Given the description of an element on the screen output the (x, y) to click on. 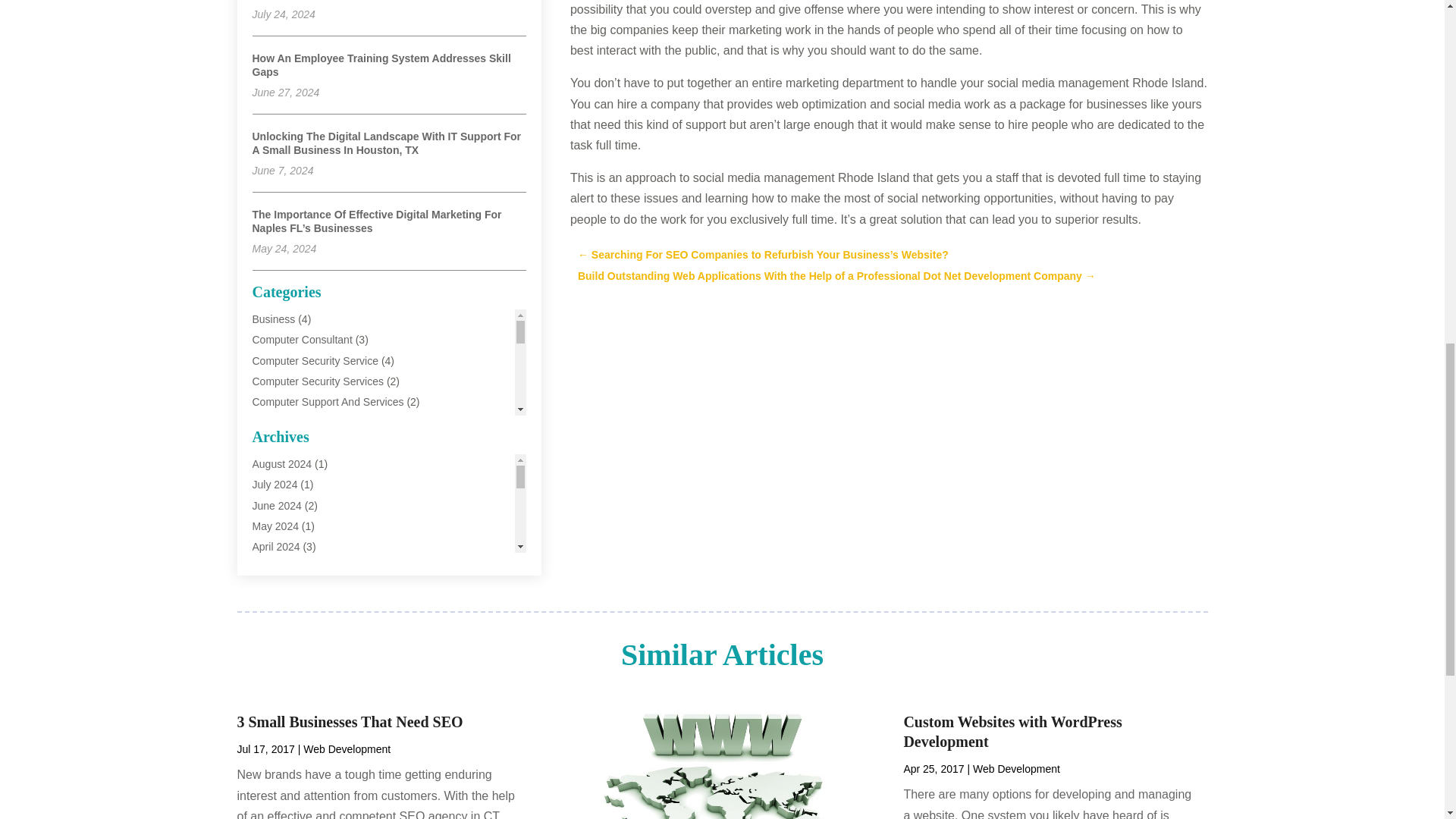
Computers (276, 422)
Business (273, 318)
Web Design (279, 669)
IT Support (276, 566)
Web Development Software (317, 711)
Computer Consultant (301, 339)
Computer Security Services (317, 381)
Internet Marketing Service (313, 525)
Internet Service Provider (309, 545)
